Given the description of an element on the screen output the (x, y) to click on. 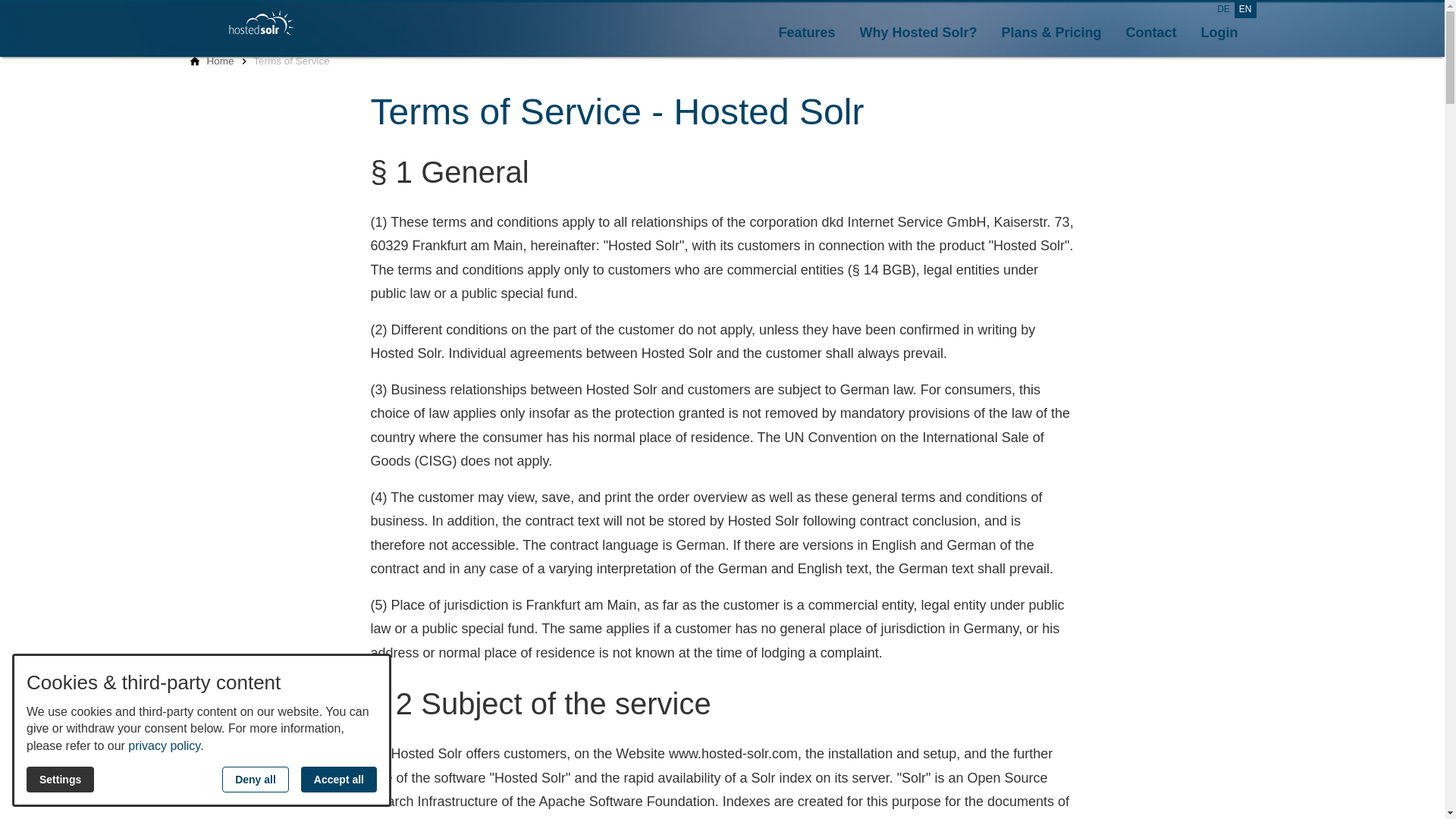
Deny all (255, 779)
privacy policy. (165, 745)
Home (220, 61)
Contact (1150, 33)
DE (1223, 9)
Login (1220, 33)
Accept all (339, 779)
Features (805, 33)
Why Hosted Solr? (917, 33)
